Given the description of an element on the screen output the (x, y) to click on. 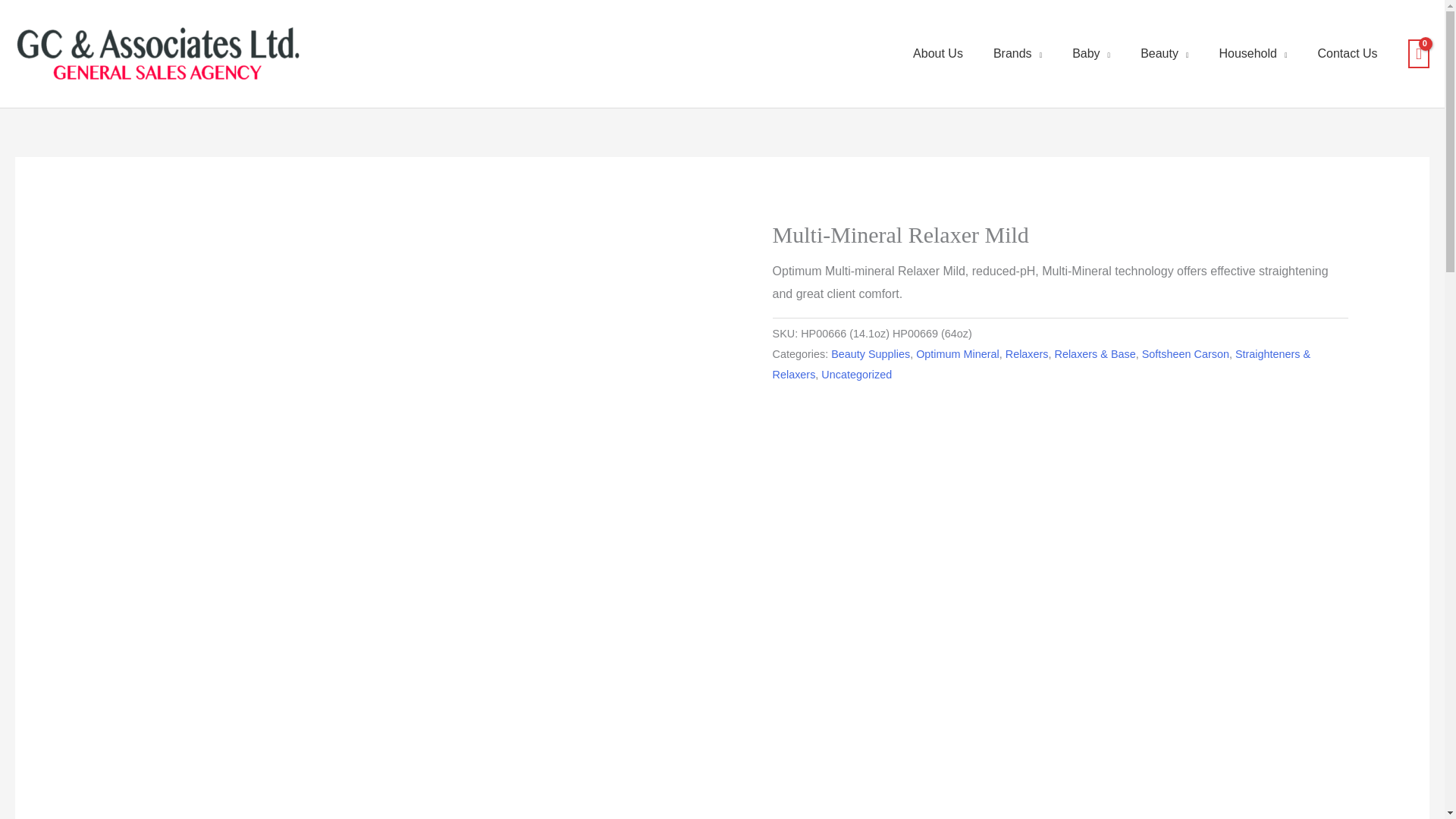
Baby (1091, 53)
About Us (938, 53)
Brands (1017, 53)
